Given the description of an element on the screen output the (x, y) to click on. 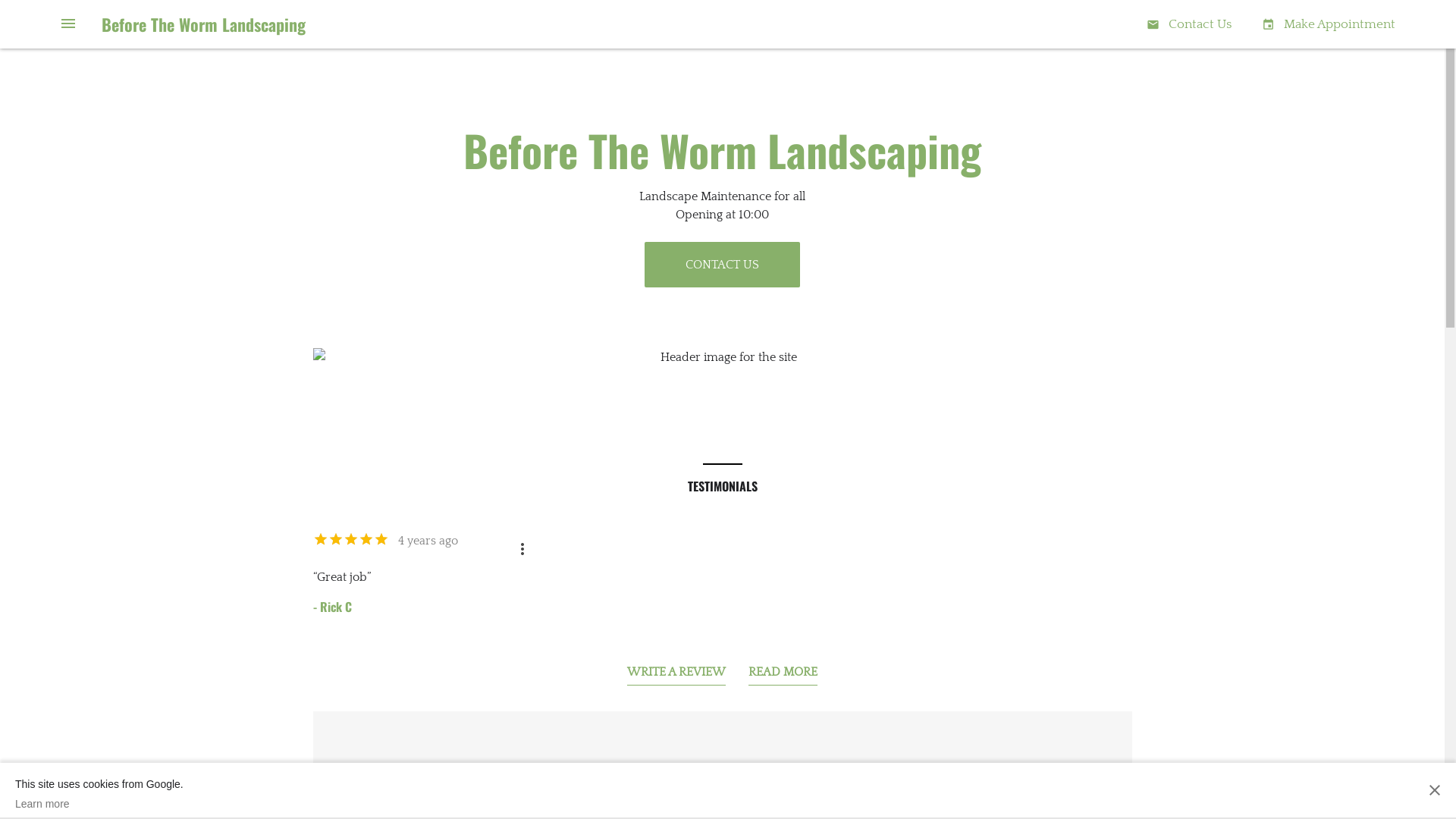
READ MORE Element type: text (782, 675)
Before The Worm Landscaping Element type: text (203, 24)
Learn more Element type: text (99, 803)
WRITE A REVIEW Element type: text (676, 675)
CONTACT US Element type: text (722, 264)
